Given the description of an element on the screen output the (x, y) to click on. 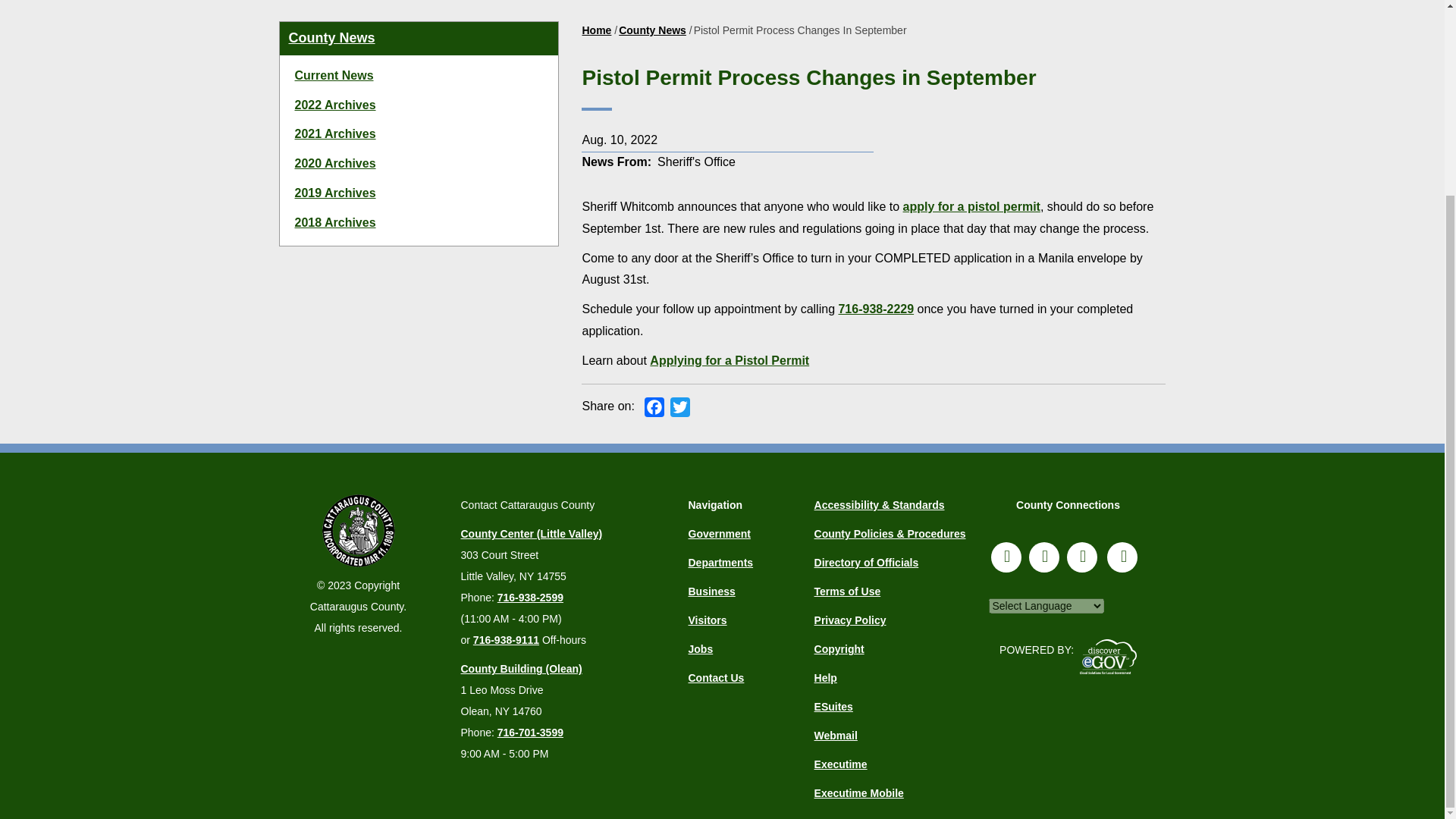
Cattaraugus County's YouTube Channel (1121, 557)
Facebook Link (1006, 557)
Twitter Link (1044, 557)
Flickr Link (1082, 557)
